Given the description of an element on the screen output the (x, y) to click on. 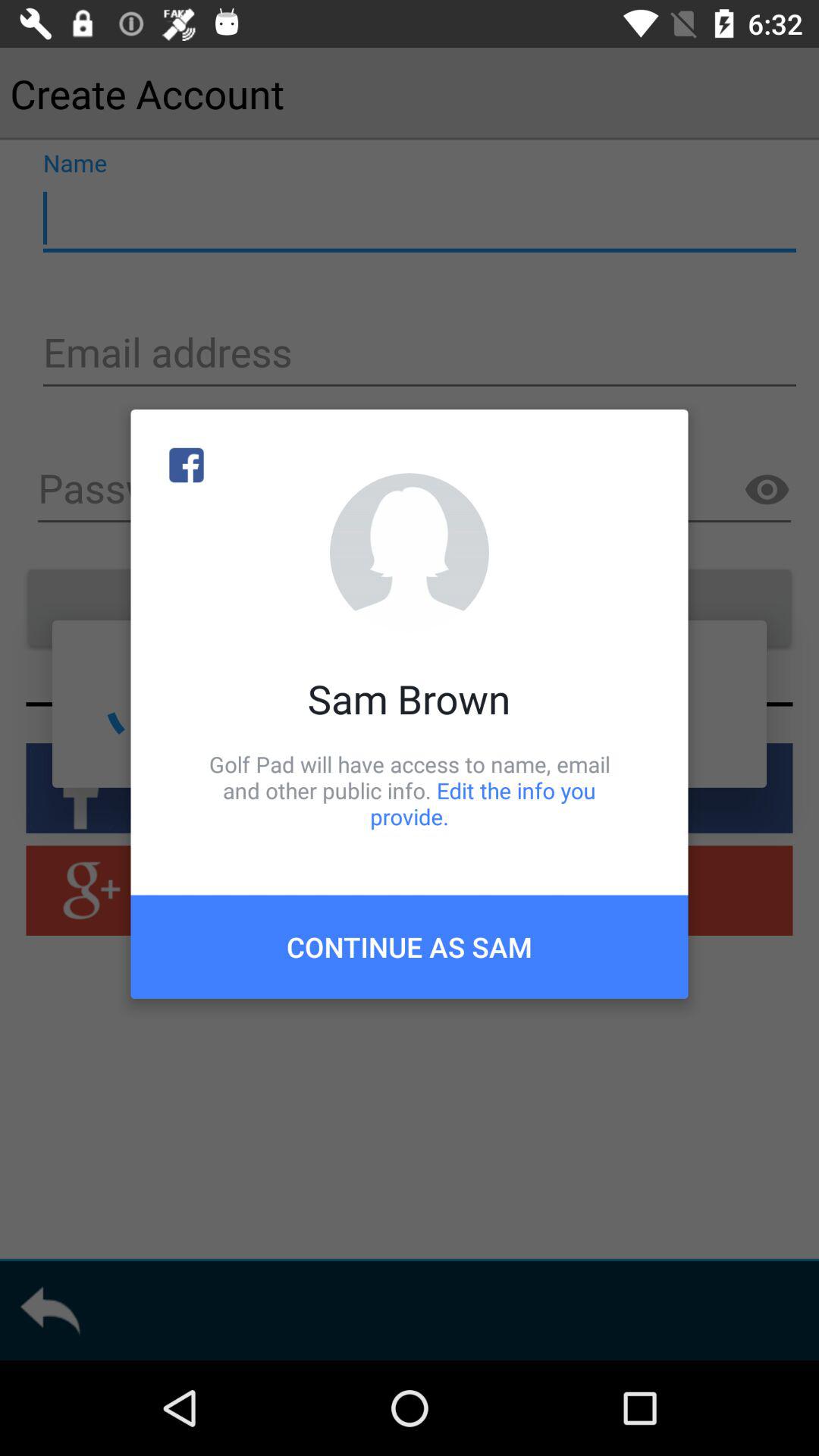
scroll until golf pad will icon (409, 790)
